Given the description of an element on the screen output the (x, y) to click on. 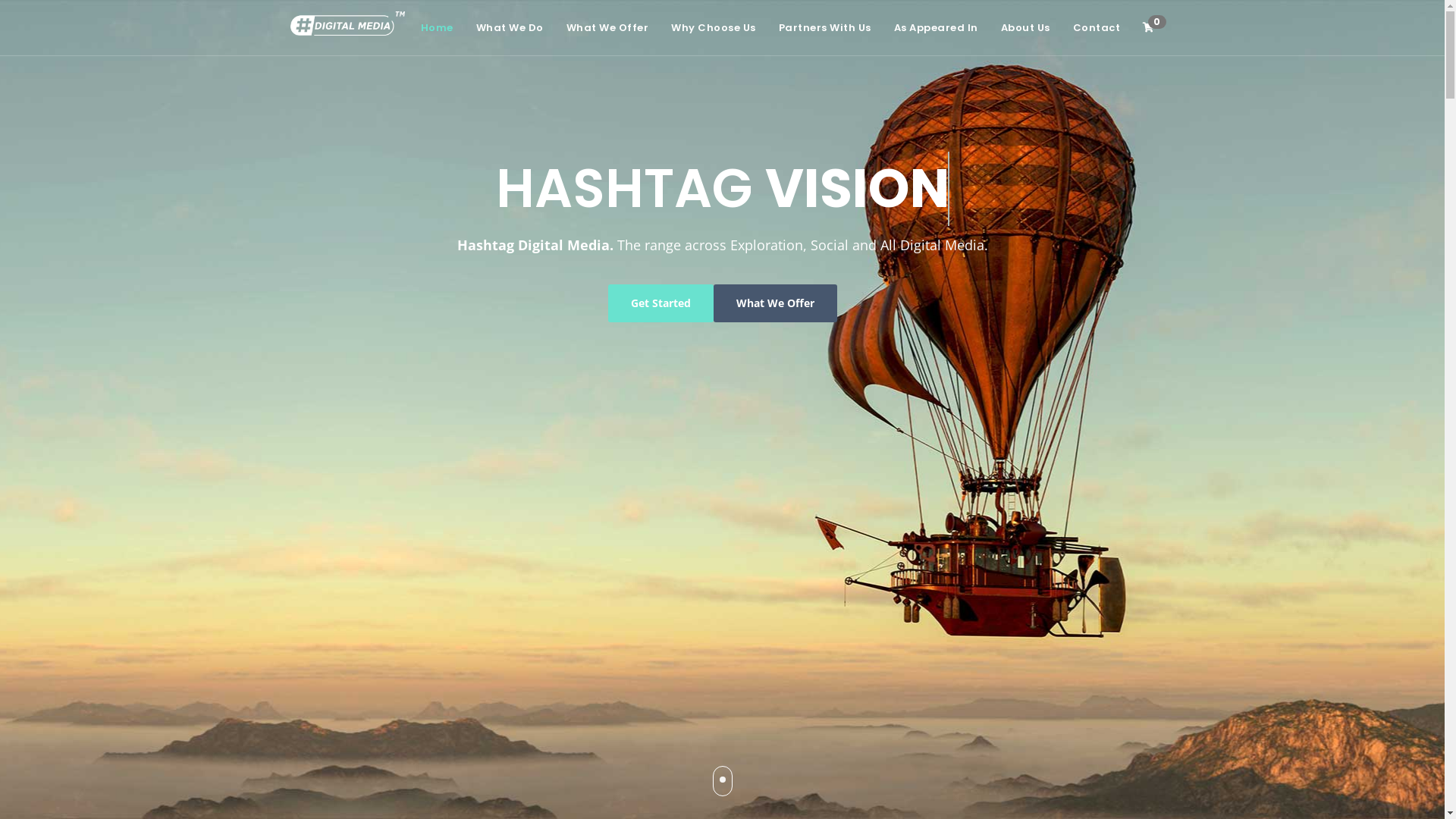
Home Element type: text (436, 27)
As Appeared In Element type: text (935, 27)
Partners With Us Element type: text (824, 27)
About Us Element type: text (1024, 27)
What We Offer Element type: text (607, 27)
What We Do Element type: text (509, 27)
Contact Element type: text (1096, 27)
What We Offer Element type: text (774, 302)
Why Choose Us Element type: text (713, 27)
0 Element type: text (1142, 27)
Get Started Element type: text (660, 302)
